Given the description of an element on the screen output the (x, y) to click on. 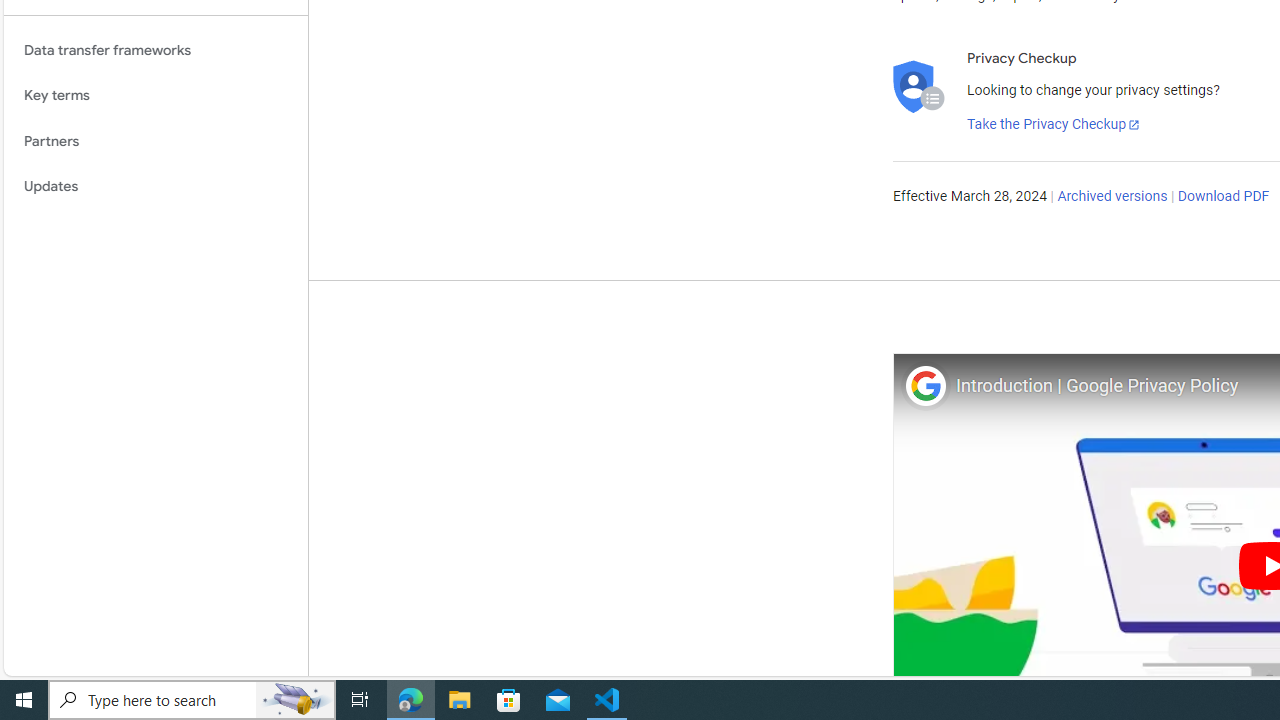
Key terms (155, 95)
Key terms (155, 95)
Archived versions (1112, 196)
Updates (155, 187)
Download PDF (1223, 196)
Photo image of Google (925, 385)
Data transfer frameworks (155, 50)
Updates (155, 187)
Data transfer frameworks (155, 50)
Partners (155, 141)
Partners (155, 141)
Take the Privacy Checkup (1053, 124)
